Given the description of an element on the screen output the (x, y) to click on. 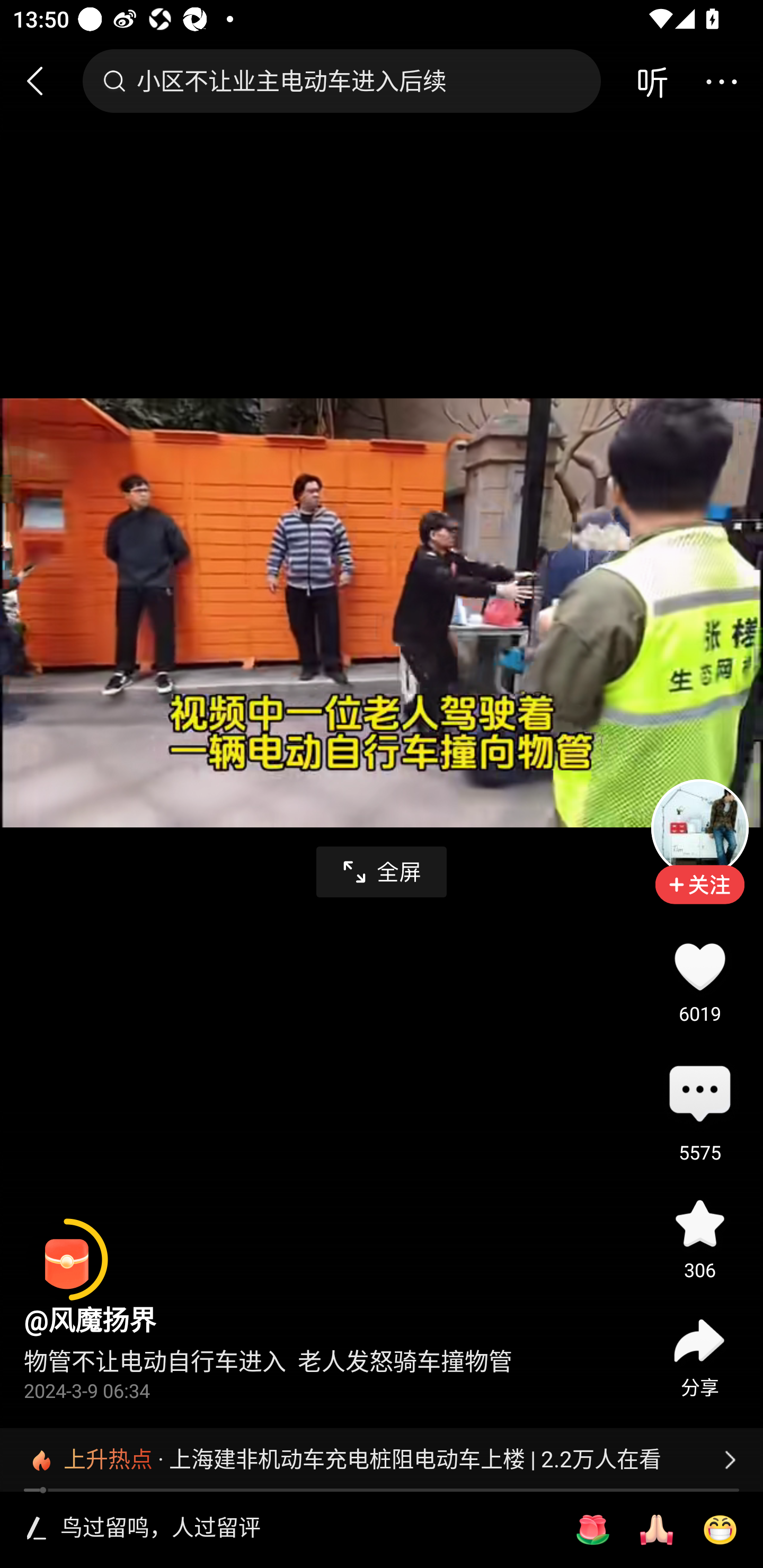
小区不让业主电动车进入后续 搜索框，小区不让业主电动车进入后续 (341, 80)
返回 (43, 80)
音频 (651, 80)
更多操作 (720, 80)
头像 (699, 827)
全屏播放 (381, 871)
点赞6019 6019 (699, 966)
评论5575 评论 5575 (699, 1095)
收藏 306 (699, 1223)
阅读赚金币 (66, 1259)
分享 (699, 1341)
@风魔扬界 (89, 1319)
上升热点  · 上海建非机动车充电桩阻电动车上楼  | 2.2万人在看 (381, 1459)
鸟过留鸣，人过留评 (305, 1529)
[玫瑰] (592, 1530)
[祈祷] (656, 1530)
[呲牙] (719, 1530)
